Given the description of an element on the screen output the (x, y) to click on. 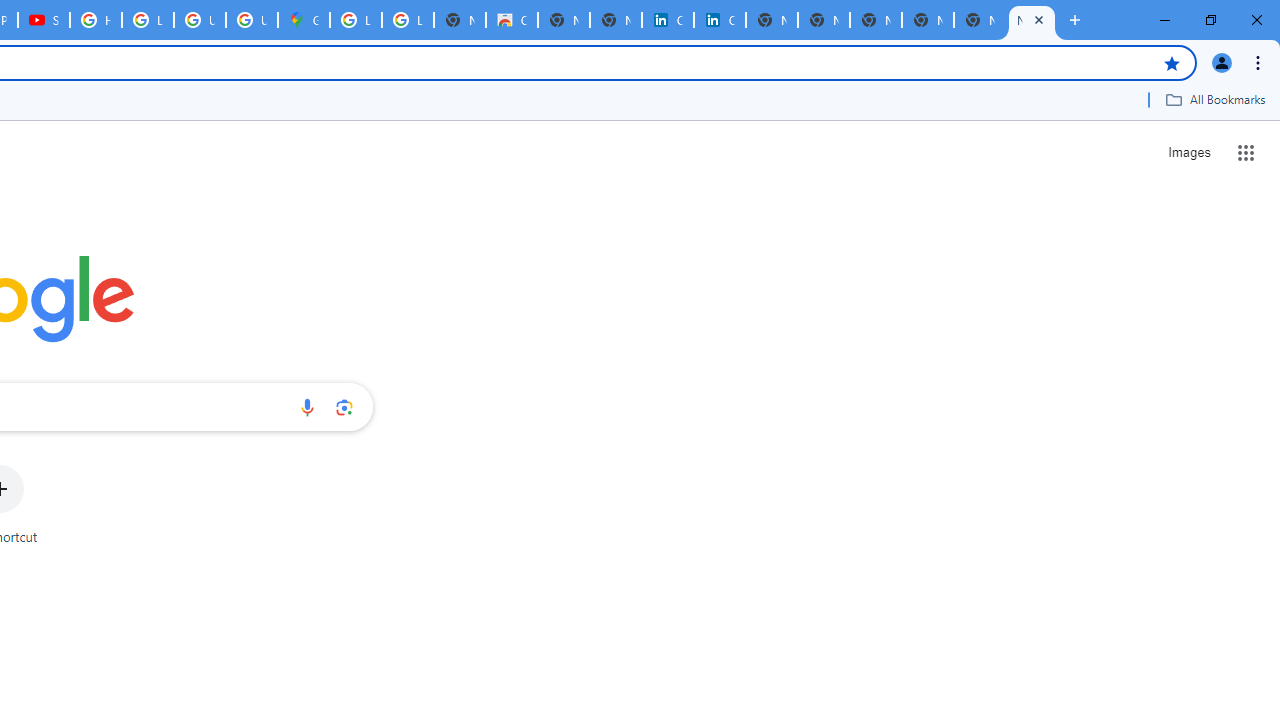
Google Maps (303, 20)
Cookie Policy | LinkedIn (719, 20)
Chrome Web Store (511, 20)
How Chrome protects your passwords - Google Chrome Help (95, 20)
